Given the description of an element on the screen output the (x, y) to click on. 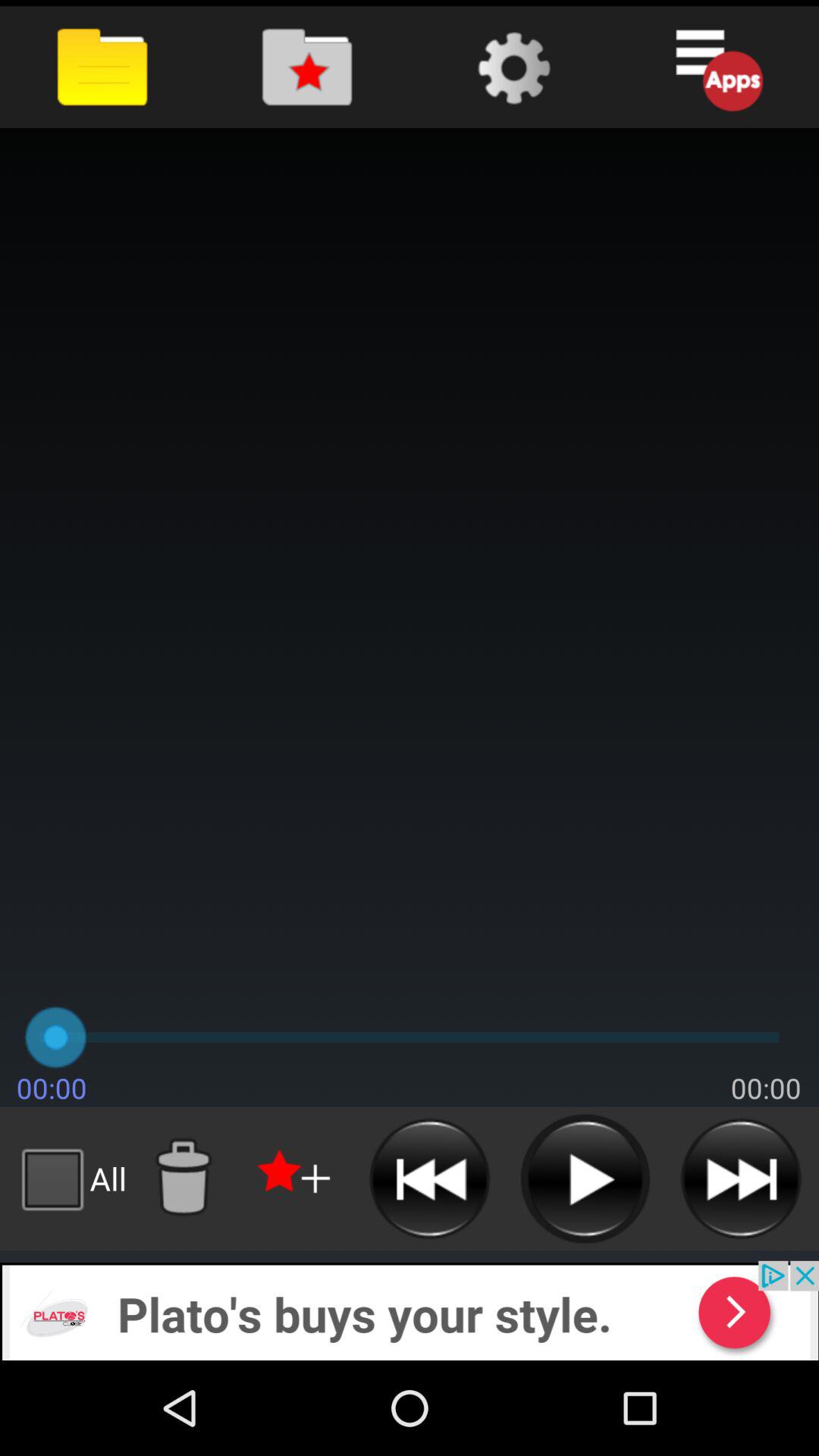
reverse track (429, 1178)
